Given the description of an element on the screen output the (x, y) to click on. 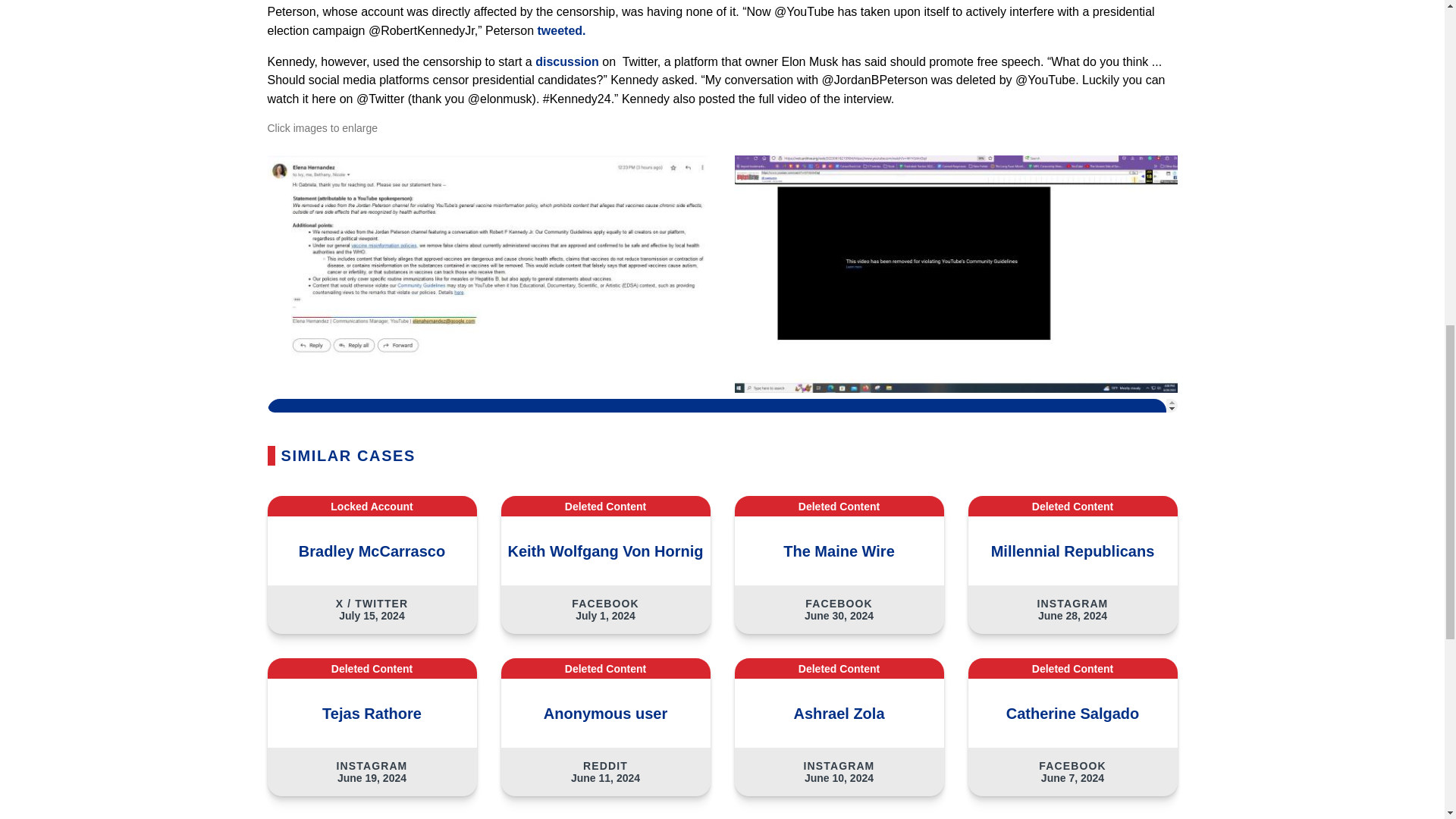
Giving Form (721, 405)
